Given the description of an element on the screen output the (x, y) to click on. 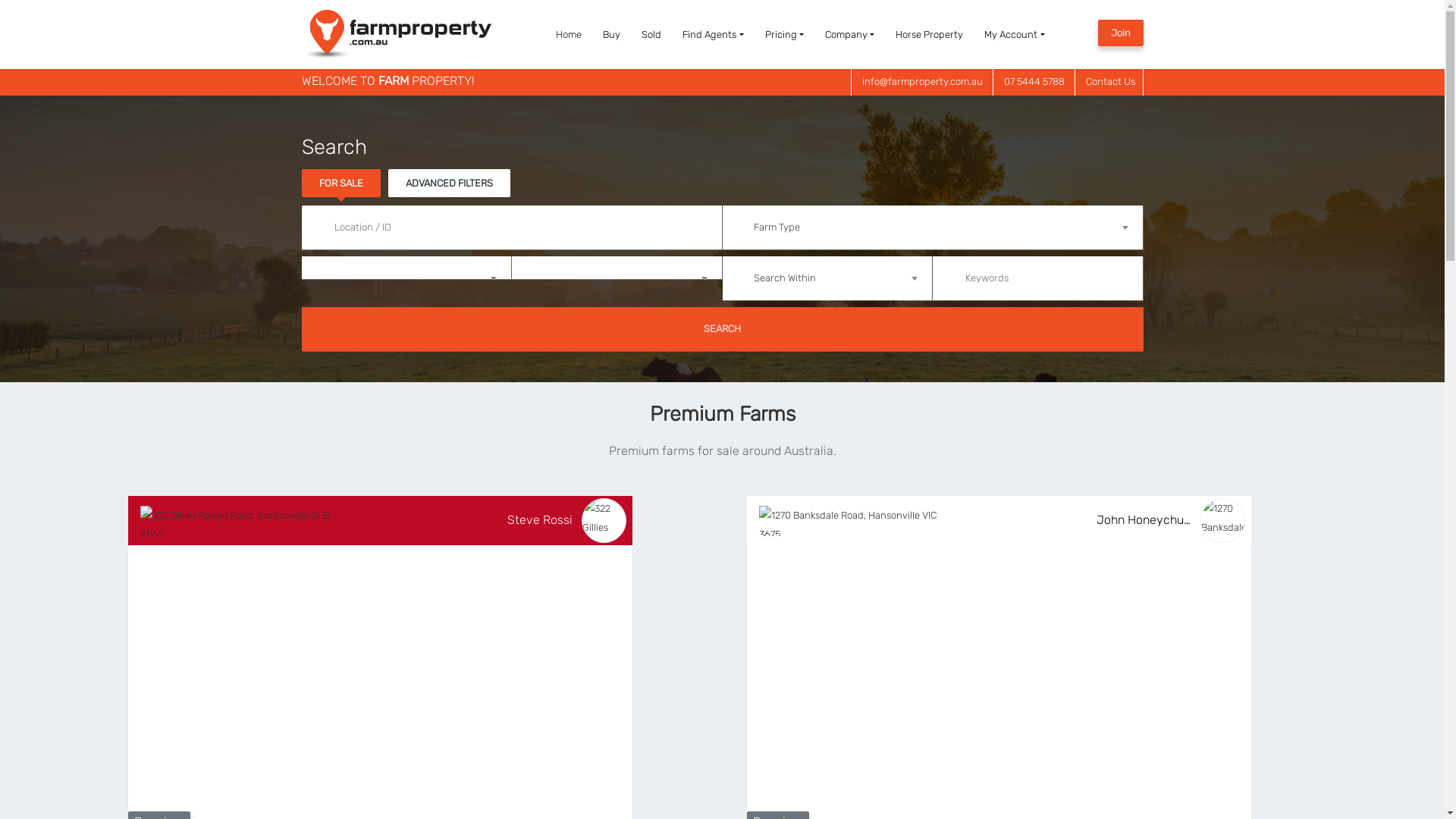
Join Element type: text (1120, 33)
07 5444 5788 Element type: text (1034, 81)
ADVANCED FILTERS Element type: text (449, 183)
Contact Us Element type: text (1110, 81)
FOR SALE Element type: text (340, 183)
info@farmproperty.com.au Element type: text (921, 81)
My Account Element type: text (1013, 34)
Sold Element type: text (650, 34)
Home Element type: text (568, 34)
Horse Property Element type: text (928, 34)
SEARCH Element type: text (722, 329)
Buy Element type: text (611, 34)
